Given the description of an element on the screen output the (x, y) to click on. 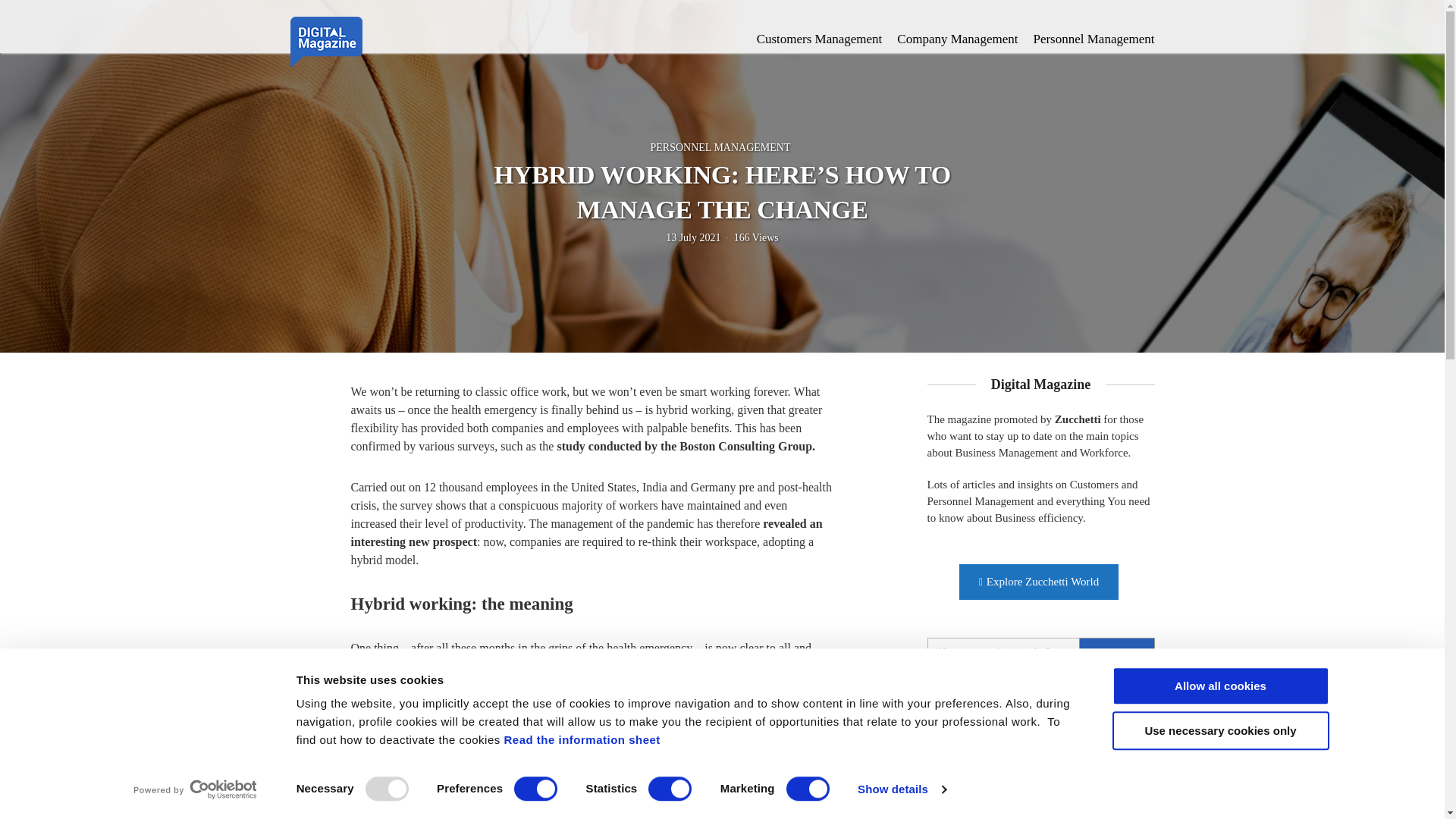
Allow all cookies (1219, 685)
Read the information sheet (581, 739)
Customers Management (819, 39)
Use necessary cookies only (1219, 730)
Company Management (956, 39)
Cookies (581, 739)
What are you looking for? (1040, 652)
Personnel Management (1093, 39)
Show details (900, 789)
Digital Magazine (325, 39)
What are you looking for? (1040, 652)
